Given the description of an element on the screen output the (x, y) to click on. 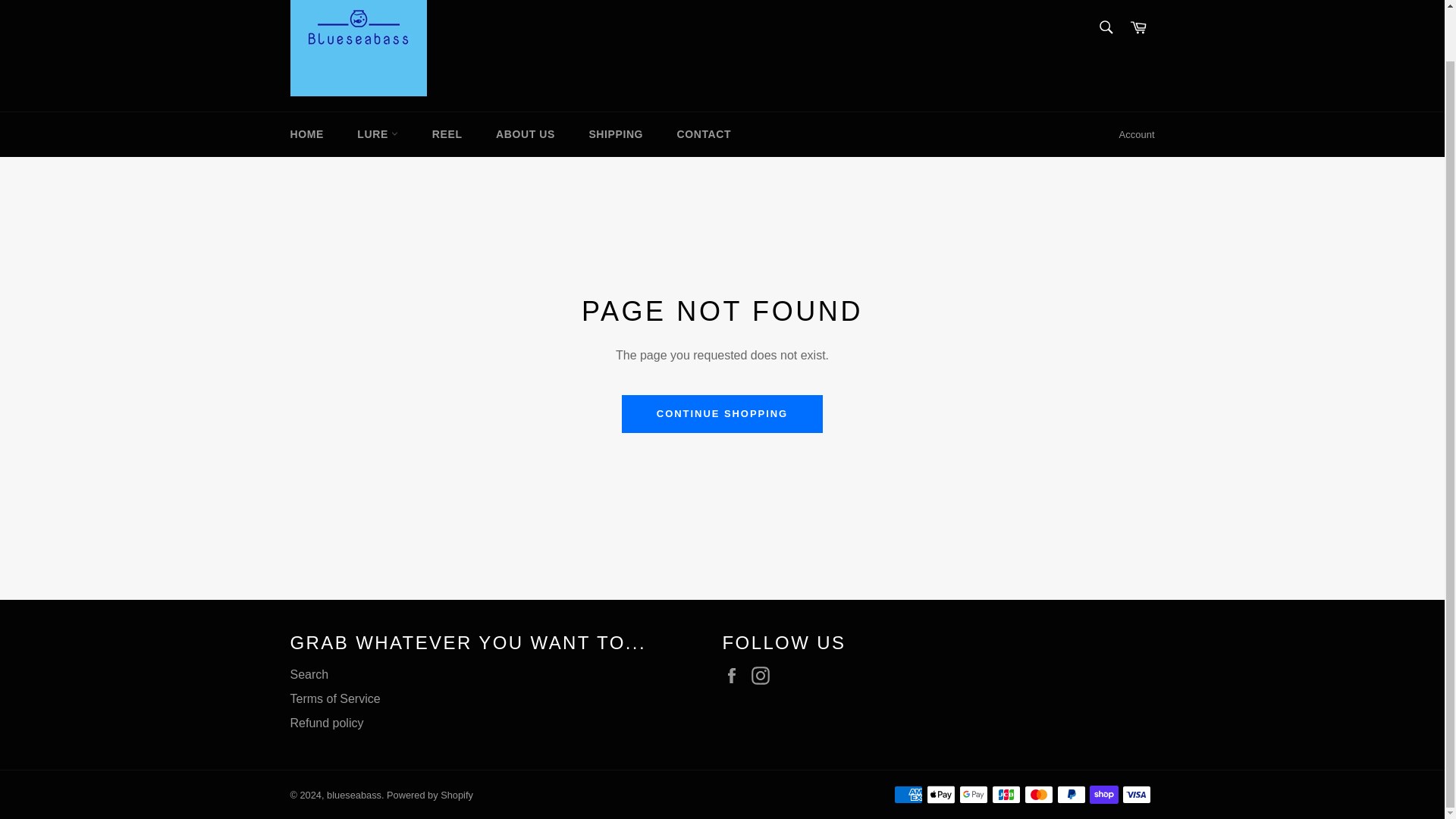
Powered by Shopify (430, 794)
HOME (306, 134)
blueseabass on Facebook (735, 675)
Terms of Service (334, 698)
SHIPPING (615, 134)
Instagram (764, 675)
ABOUT US (525, 134)
Search (1104, 27)
blueseabass on Instagram (764, 675)
Search (309, 674)
